Given the description of an element on the screen output the (x, y) to click on. 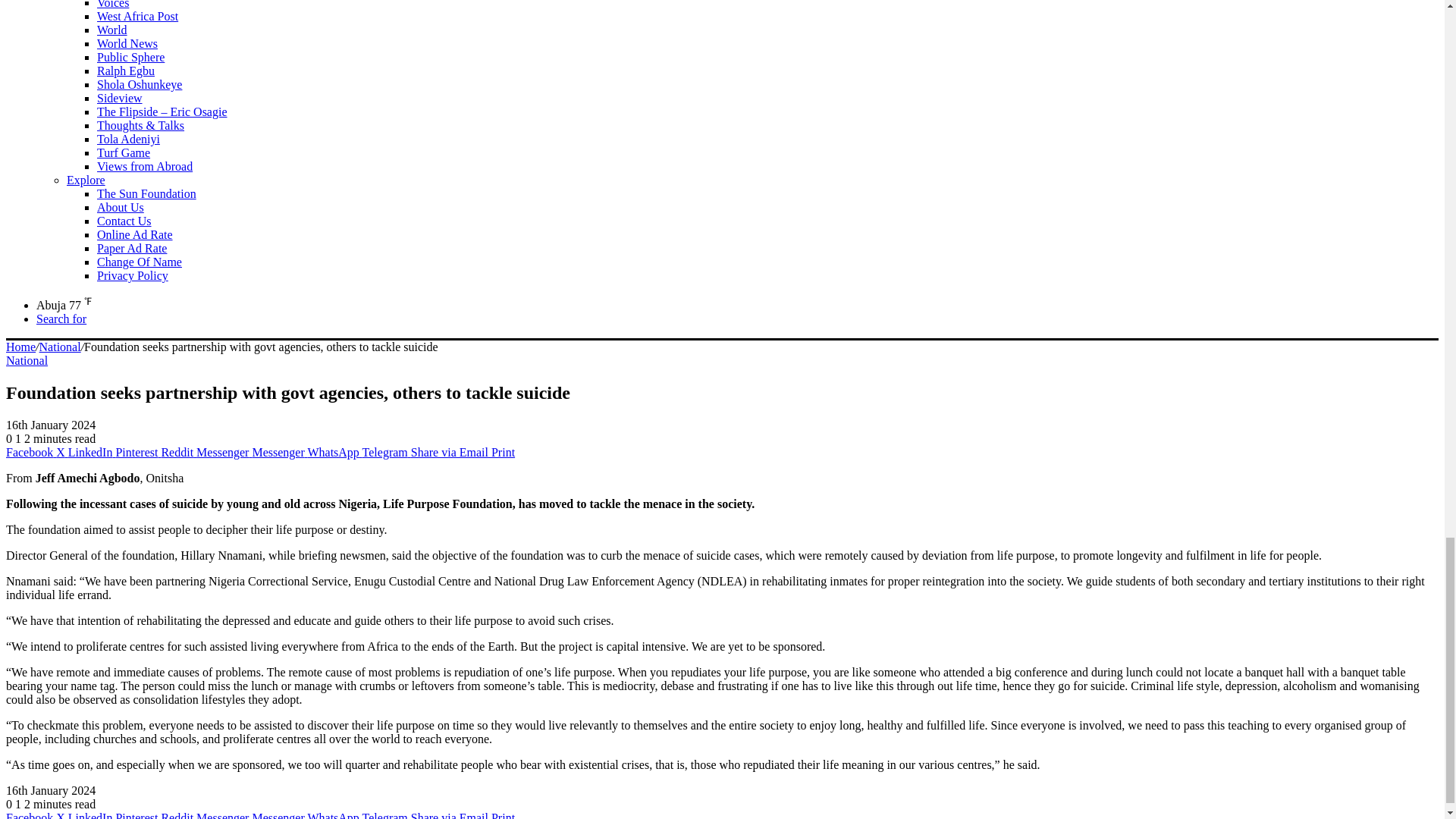
X (62, 451)
WhatsApp (334, 451)
Messenger (223, 451)
Print (503, 451)
Facebook (30, 451)
Reddit (178, 451)
Share via Email (451, 451)
Telegram (386, 451)
Pinterest (137, 451)
Messenger (279, 451)
LinkedIn (92, 451)
